Given the description of an element on the screen output the (x, y) to click on. 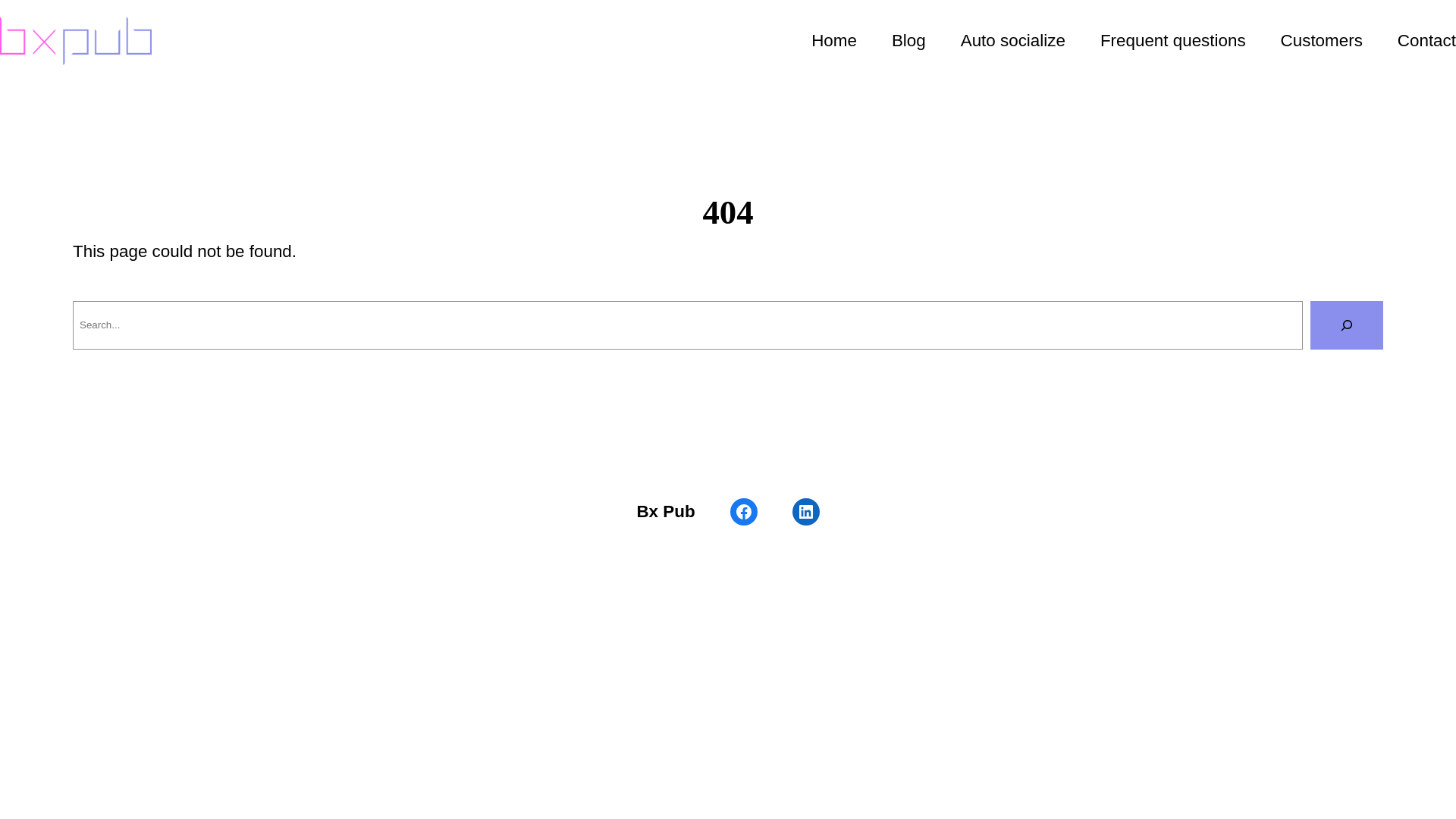
Blog Element type: text (908, 40)
Facebook Element type: text (743, 511)
Bx Pub Element type: text (665, 511)
Home Element type: text (833, 40)
LinkedIn Element type: text (805, 511)
Auto socialize Element type: text (1012, 40)
Customers Element type: text (1321, 40)
Frequent questions Element type: text (1172, 40)
